Given the description of an element on the screen output the (x, y) to click on. 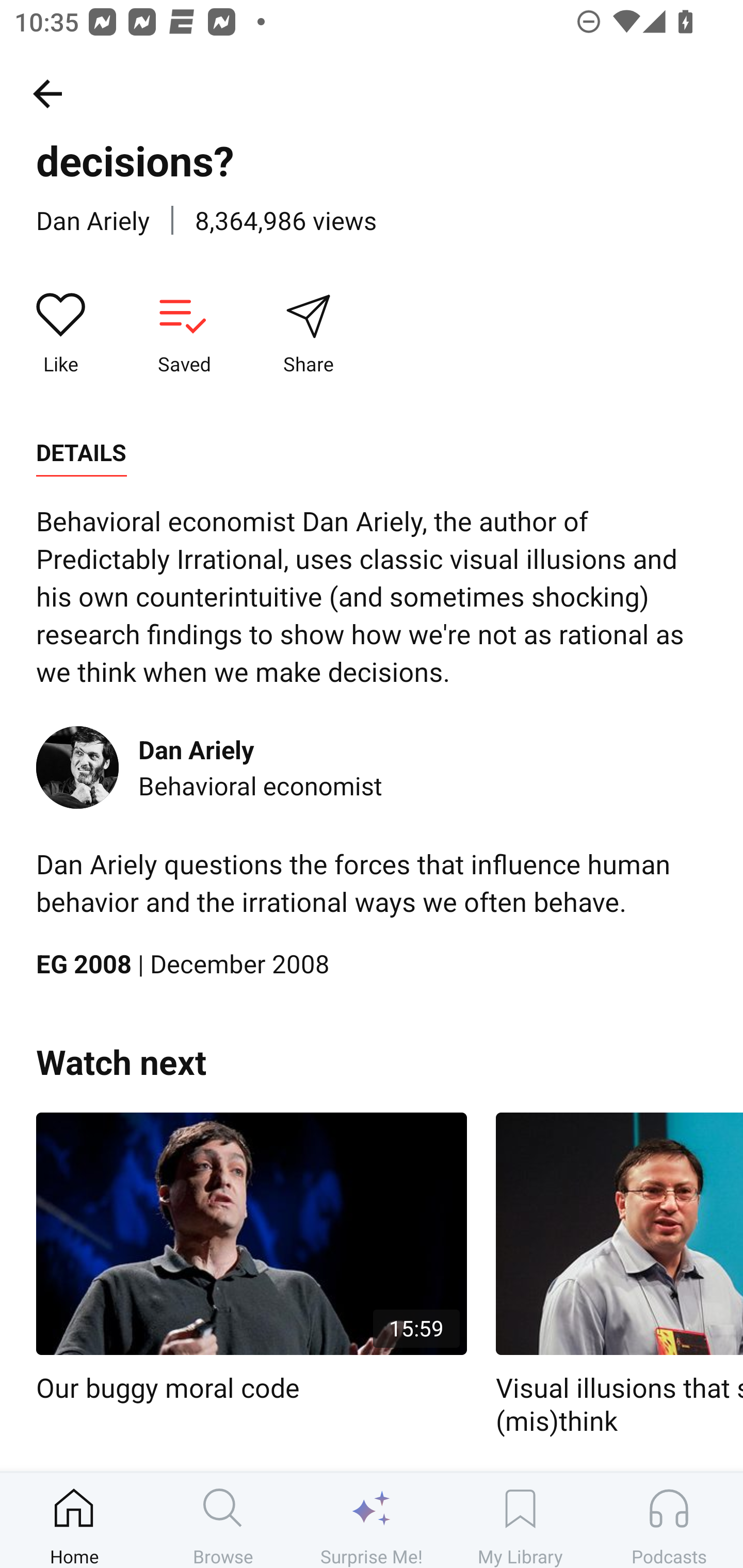
Home, back (47, 92)
Like (60, 333)
Saved (183, 333)
Share (308, 333)
DETAILS (80, 452)
15:59 Our buggy moral code (251, 1258)
Visual illusions that show how we (mis)think (619, 1275)
Home (74, 1520)
Browse (222, 1520)
Surprise Me! (371, 1520)
My Library (519, 1520)
Podcasts (668, 1520)
